Given the description of an element on the screen output the (x, y) to click on. 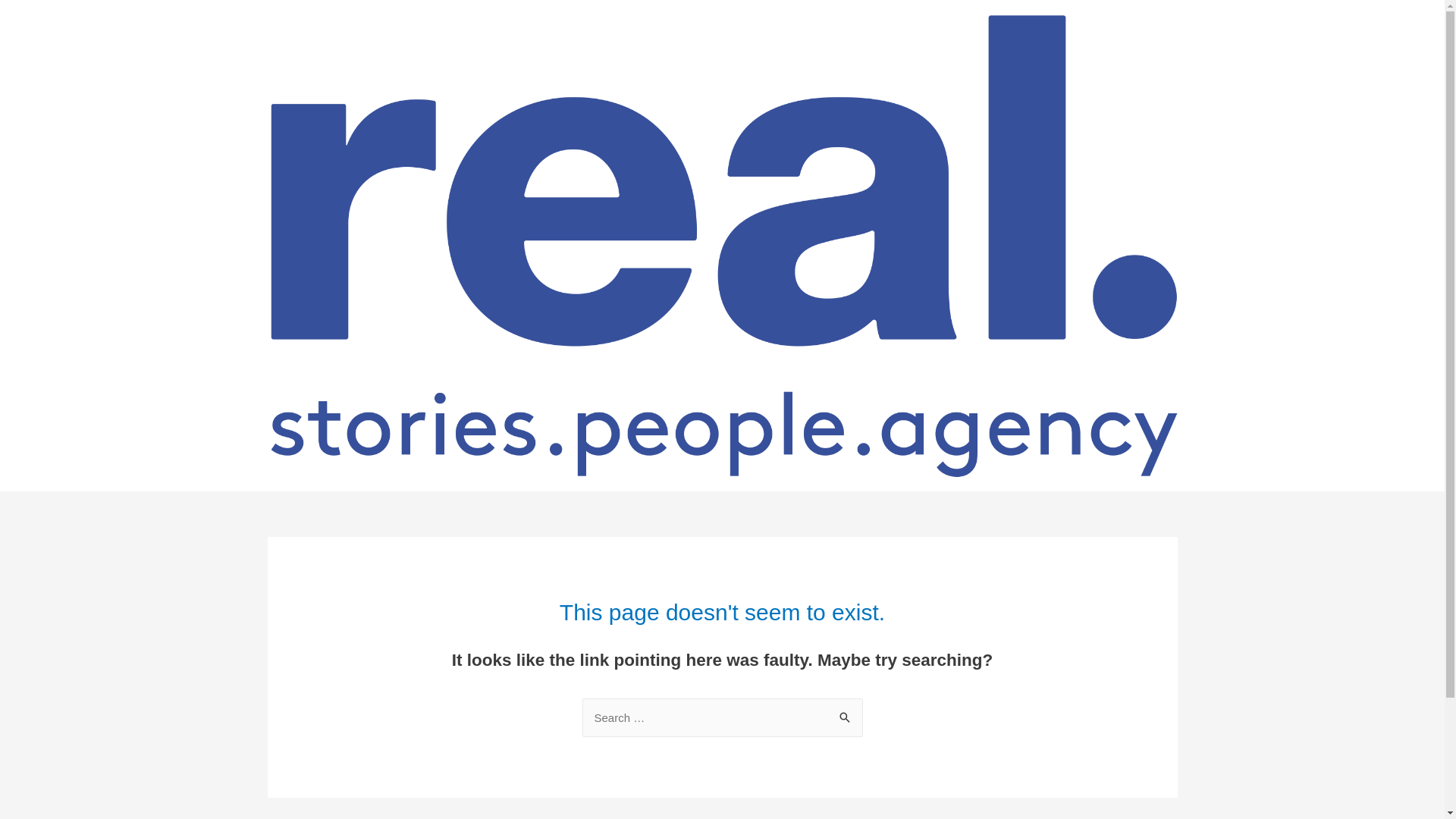
Search Element type: text (845, 718)
